Given the description of an element on the screen output the (x, y) to click on. 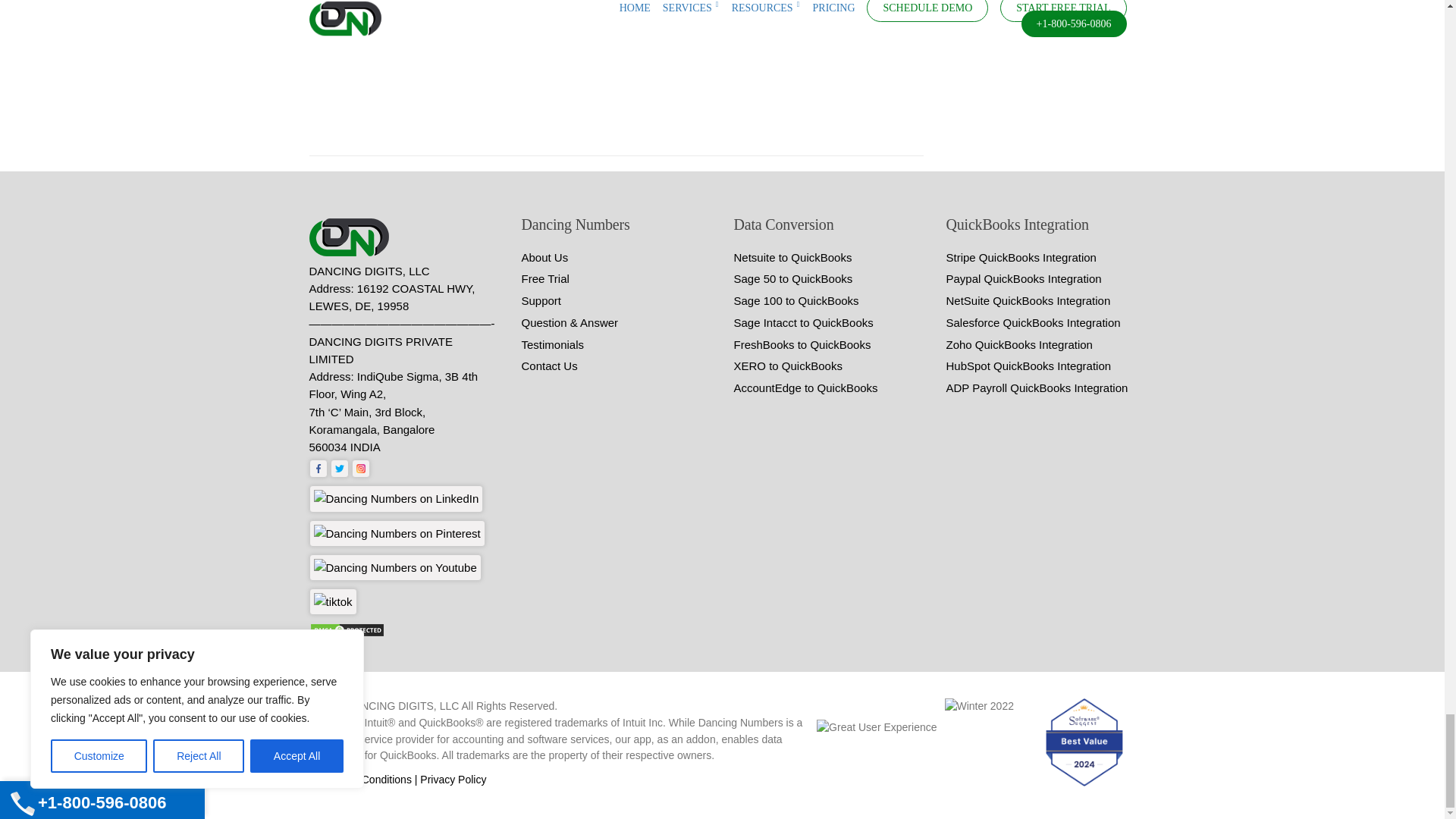
Dancing Numbers on Pinterest (396, 533)
DMCA.com Protection Status (346, 628)
Dancing Numbers on Youtube (394, 567)
Dancing Numbers on Instagram (360, 468)
Dancing Numbers on LinkedIn (395, 498)
Dancing Numbers on Facebooks (317, 468)
Dancing Numbers on Twitter (339, 468)
Dancing Numbers (352, 237)
